Given the description of an element on the screen output the (x, y) to click on. 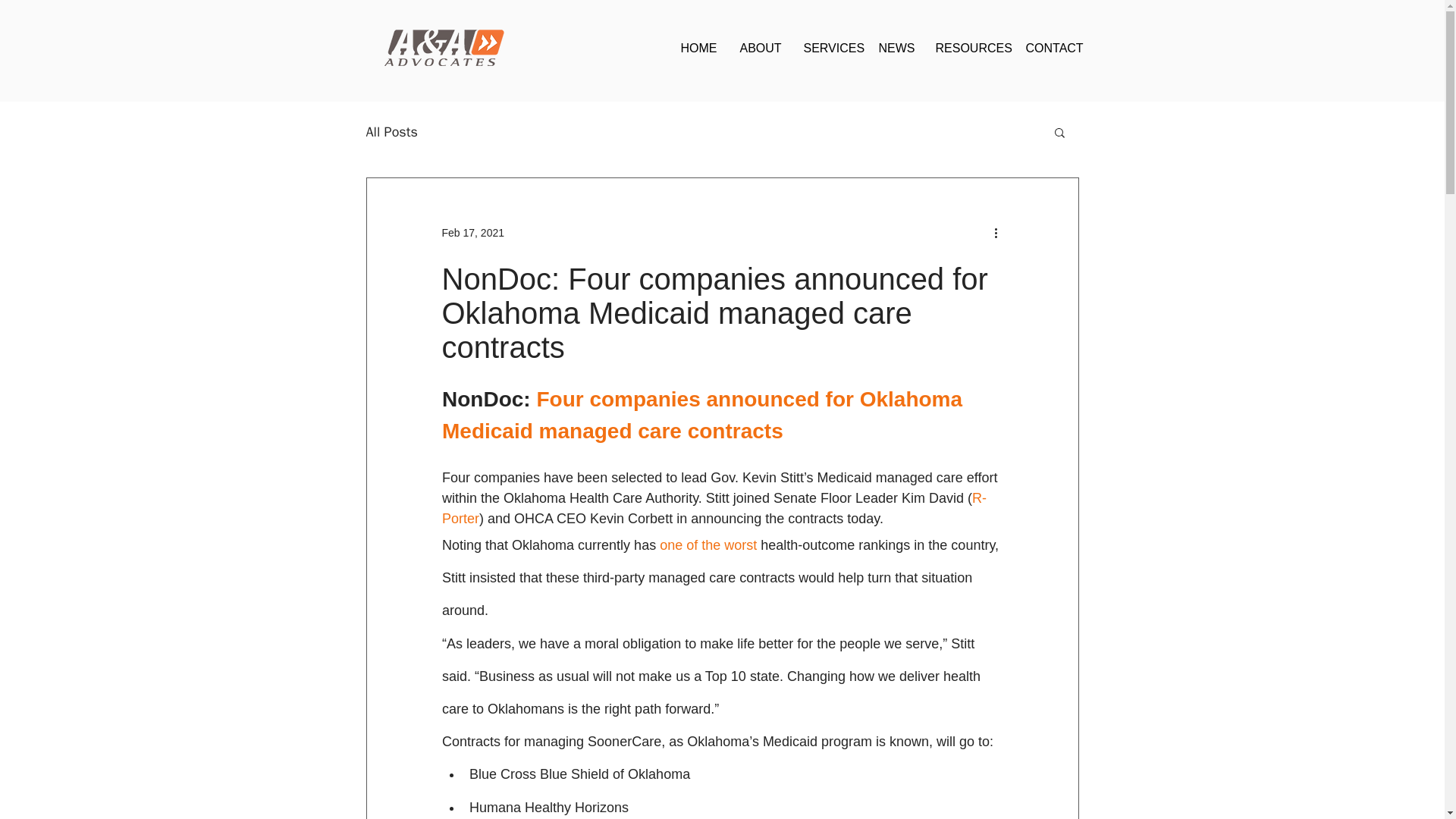
RESOURCES (968, 47)
CONTACT (1054, 47)
Feb 17, 2021 (472, 232)
R-Porter (713, 508)
ABOUT (760, 47)
All Posts (390, 131)
HOME (698, 47)
SERVICES (829, 47)
NEWS (895, 47)
